Given the description of an element on the screen output the (x, y) to click on. 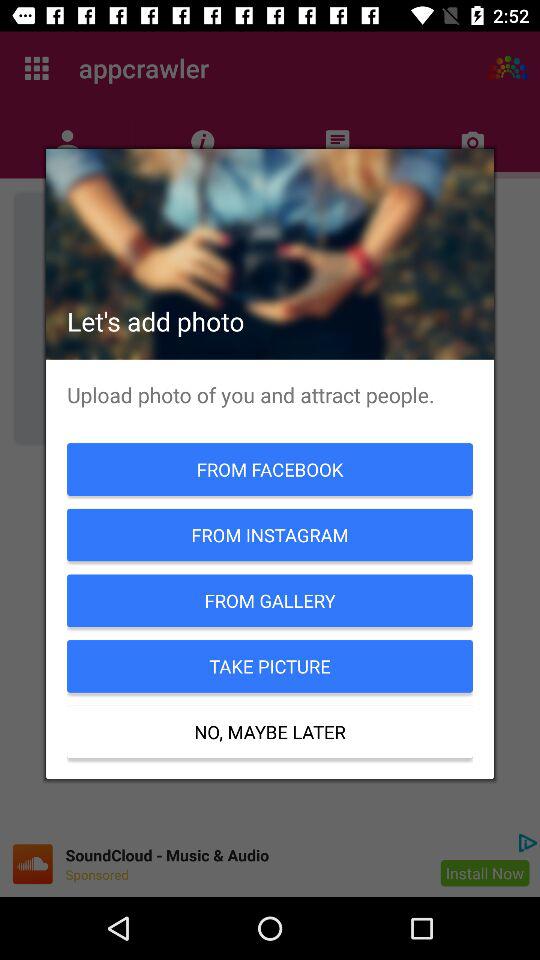
press the icon below the take picture icon (269, 731)
